Given the description of an element on the screen output the (x, y) to click on. 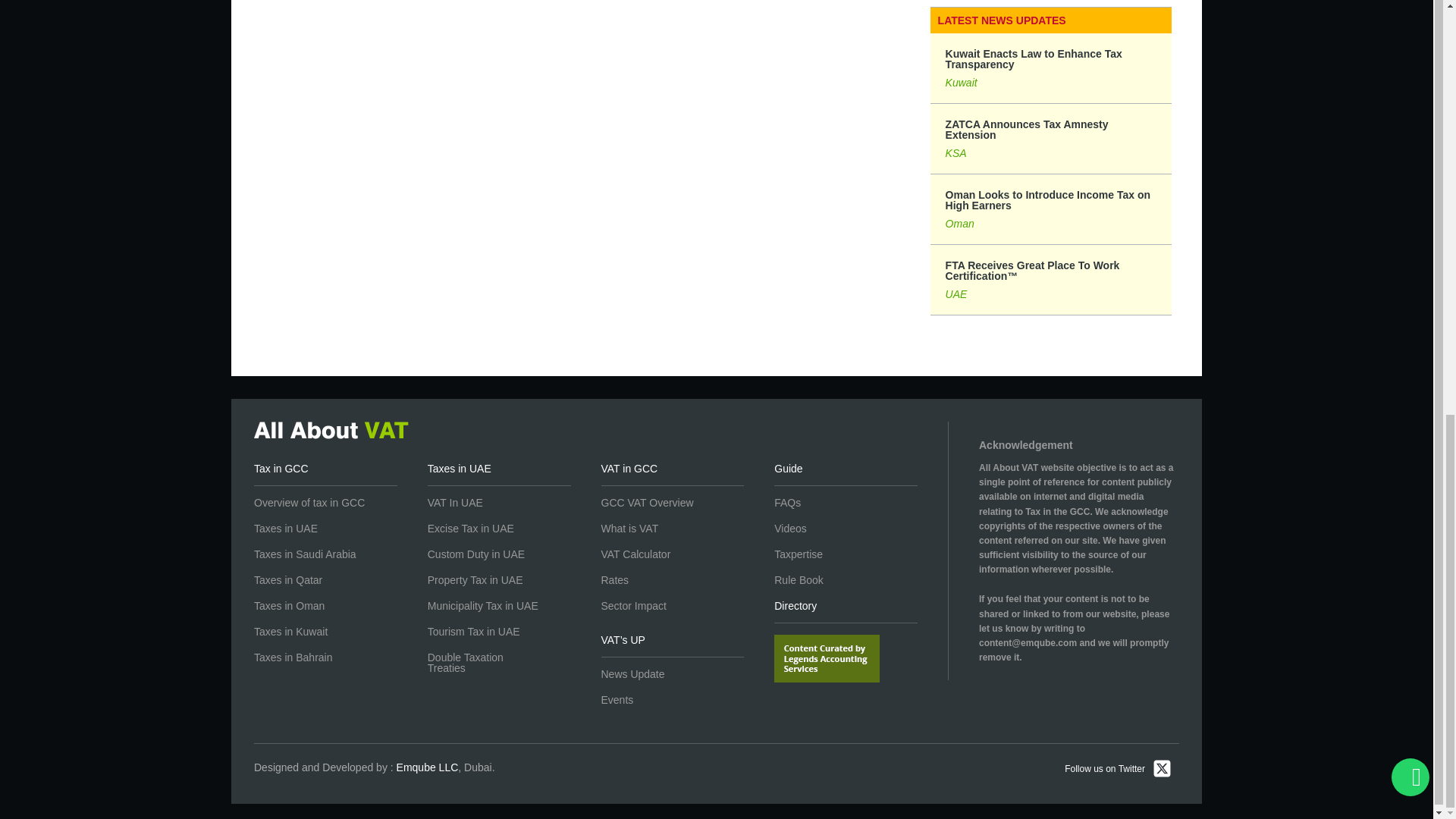
Kuwait Enacts Law to Enhance Tax Transparency (1051, 68)
emqube.com (427, 767)
ZATCA Announces Tax Amnesty Extension (1051, 138)
Follow us on Twitter (1118, 770)
Oman Looks to Introduce Income Tax on High Earners (1051, 209)
